Given the description of an element on the screen output the (x, y) to click on. 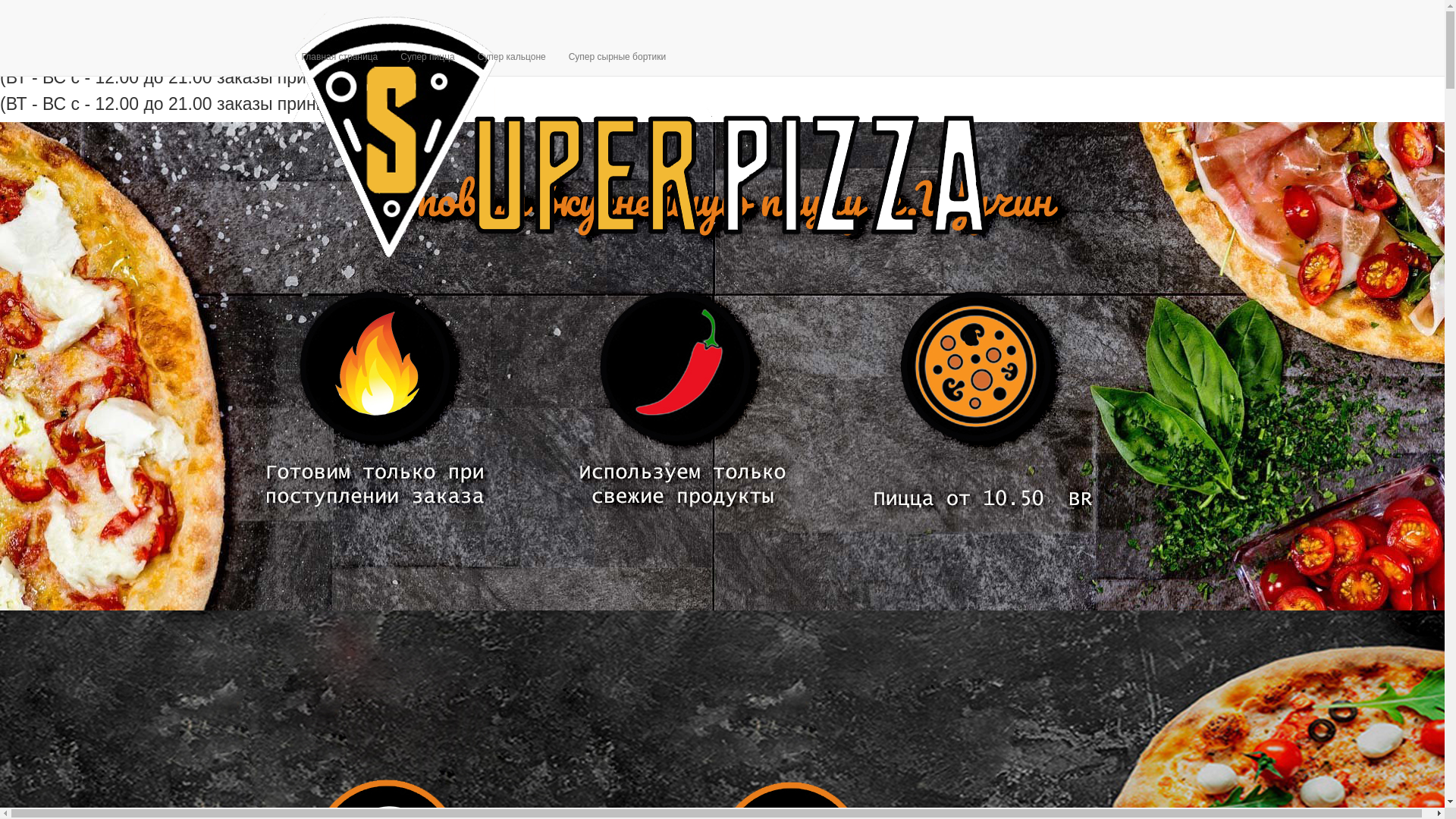
+375 33 619-64-71 Element type: hover (499, 7)
VK Element type: text (1110, 11)
Instagram Element type: text (1142, 11)
+375 33 619-64-71 Element type: text (500, 22)
SUPER PIZZA Element type: hover (641, 18)
